Given the description of an element on the screen output the (x, y) to click on. 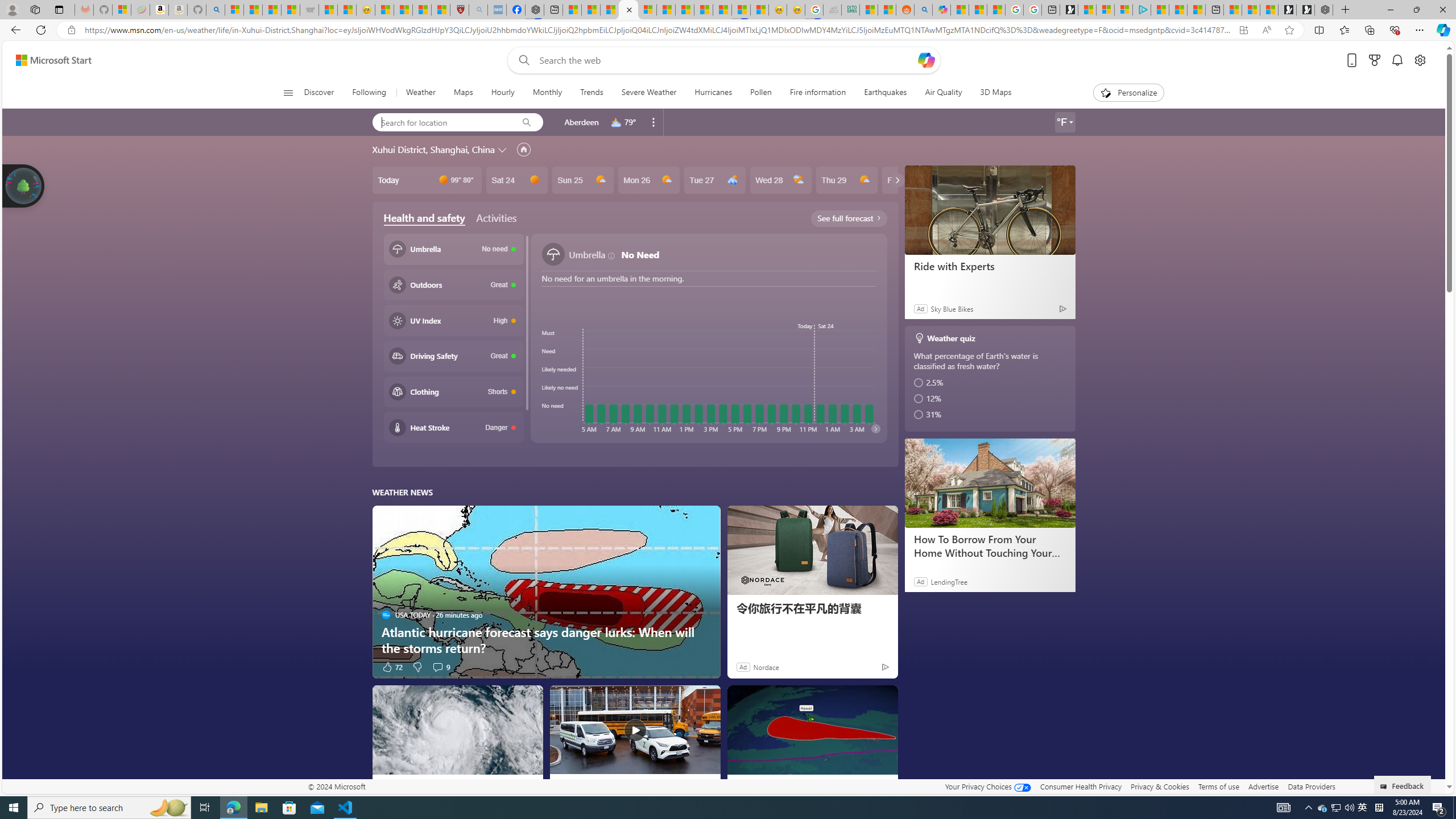
Remove location (653, 122)
Fri 30 (911, 180)
Search for location (440, 122)
Umbrella No need (453, 249)
AccuWeather (563, 785)
Monthly (547, 92)
